Given the description of an element on the screen output the (x, y) to click on. 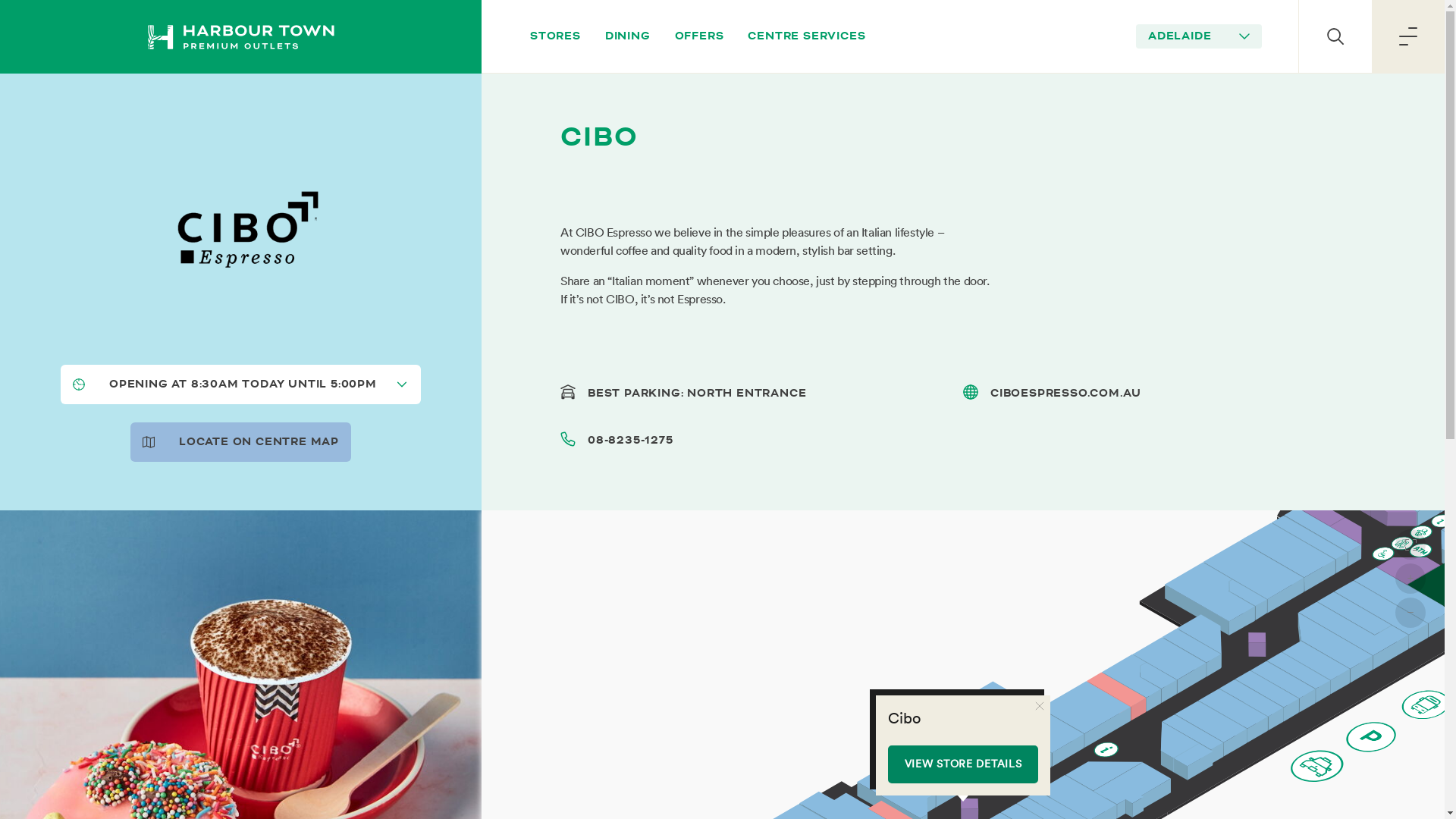
LOCATE ON CENTRE MAP Element type: text (240, 441)
CENTRE SERVICES Element type: text (806, 36)
OPENING AT 8:30AM TODAY UNTIL 5:00PM Element type: text (240, 384)
VIEW STORE DETAILS Element type: text (963, 764)
CIBOESPRESSO.COM.AU Element type: text (1065, 392)
STORES Element type: text (555, 36)
OFFERS Element type: text (699, 36)
08-8235-1275 Element type: text (630, 440)
DINING Element type: text (627, 36)
